Given the description of an element on the screen output the (x, y) to click on. 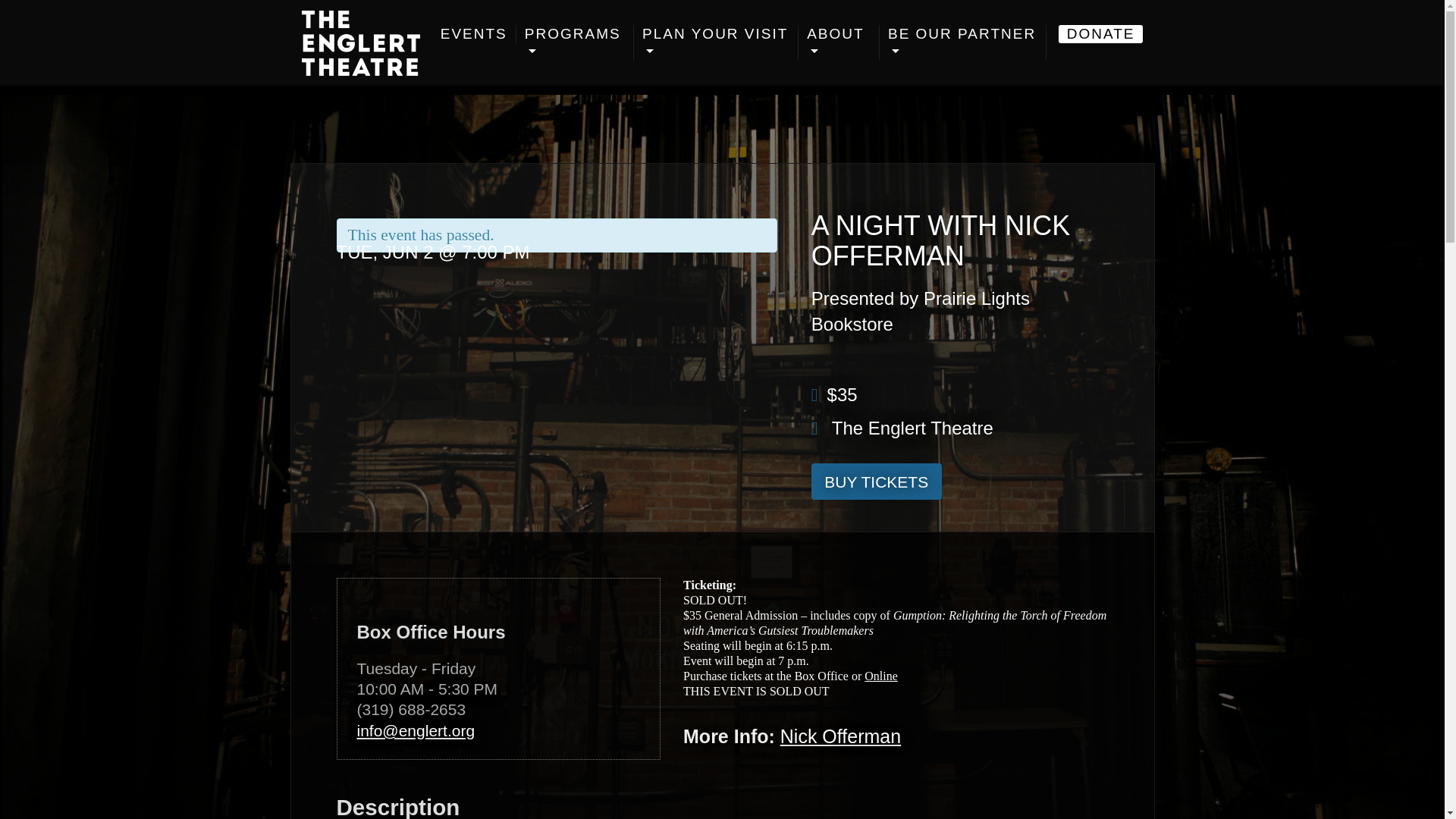
Events (474, 34)
Plan Your Visit (715, 43)
EVENTS (474, 34)
PROGRAMS (574, 43)
Online (881, 675)
ABOUT (838, 43)
PLAN YOUR VISIT (715, 43)
About (838, 43)
BE OUR PARTNER (962, 43)
Programs (574, 43)
Nick Offerman (840, 735)
DONATE (1100, 34)
BUY TICKETS (876, 481)
